Given the description of an element on the screen output the (x, y) to click on. 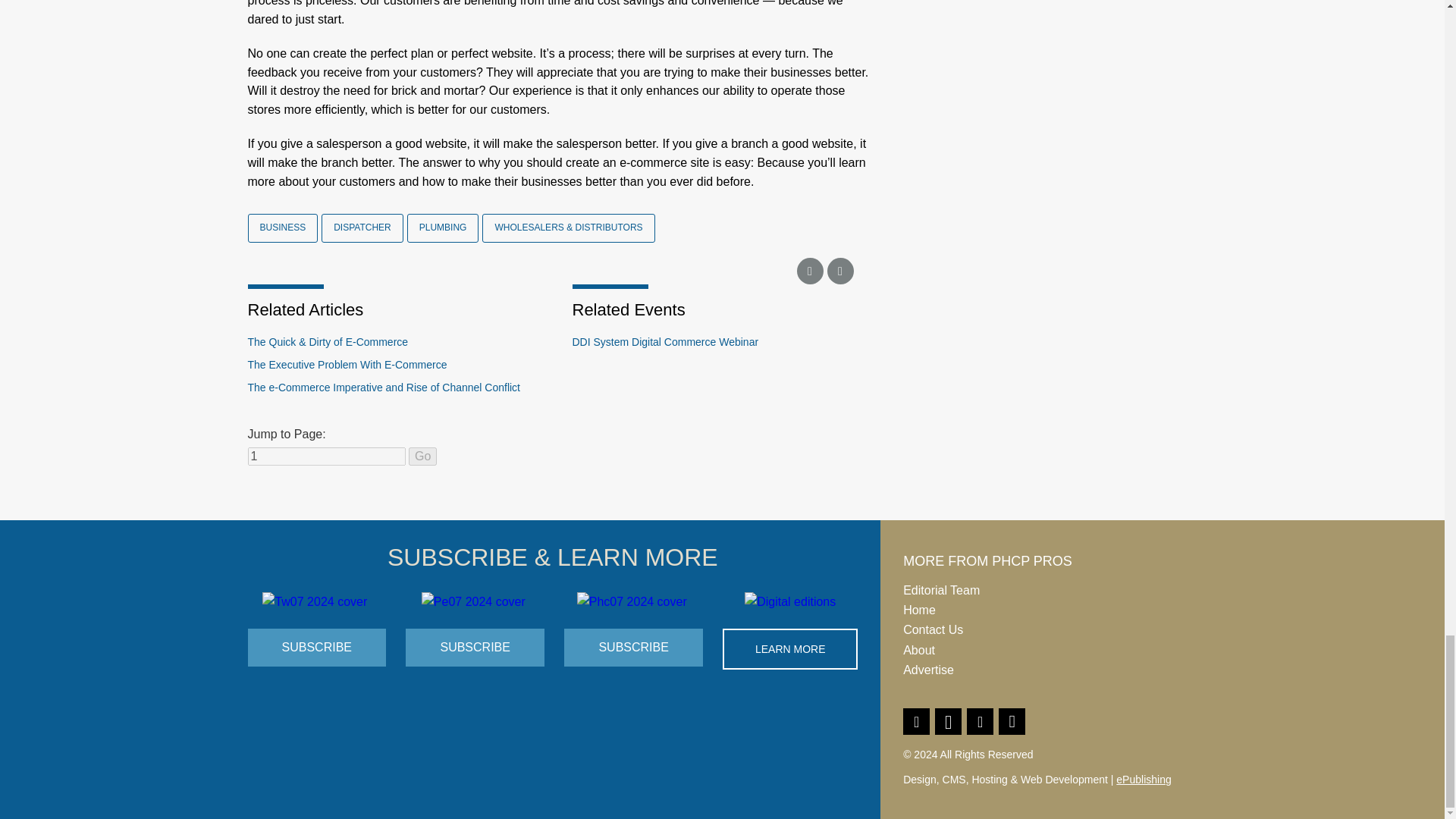
1 (325, 456)
Go (422, 456)
